Given the description of an element on the screen output the (x, y) to click on. 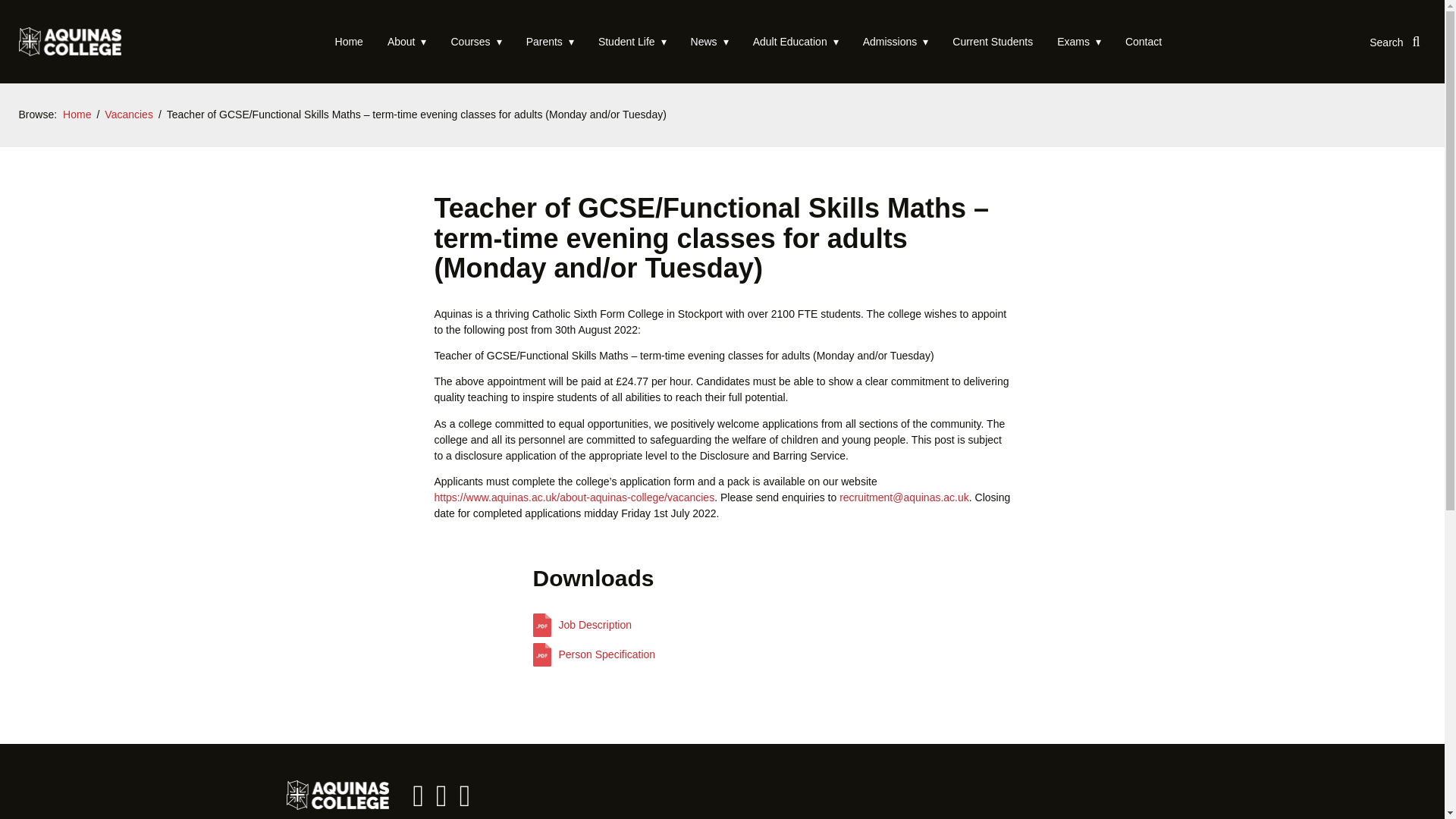
About (407, 41)
Home (349, 41)
Parents (549, 41)
Courses (475, 41)
Skip navigation (53, 41)
Student Life (632, 41)
News (709, 41)
Adult Education (795, 41)
Search (1393, 41)
